Given the description of an element on the screen output the (x, y) to click on. 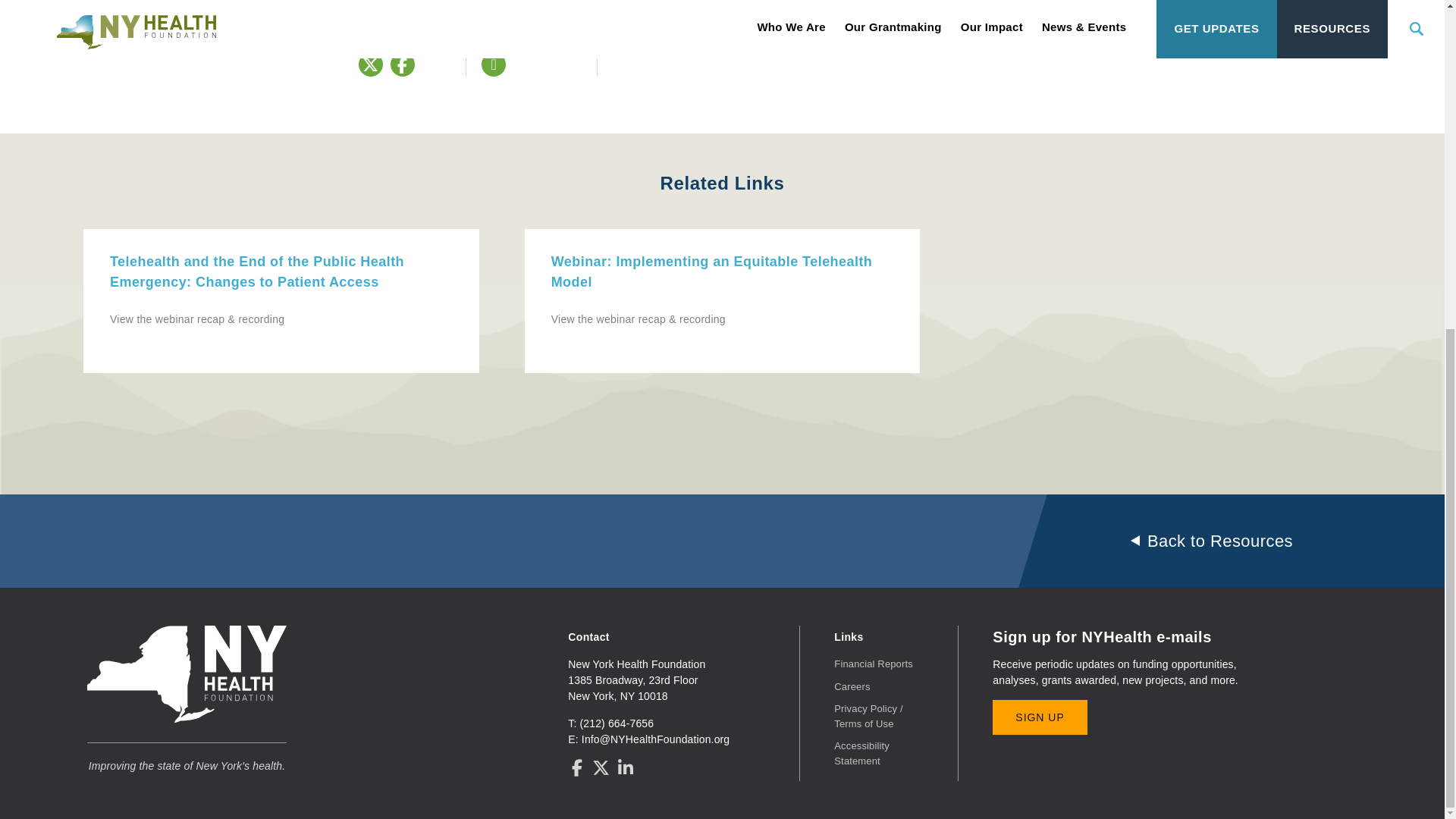
Financial Reports (873, 663)
Twitter (370, 64)
Careers (851, 686)
FB (402, 65)
Read the fact sheet (695, 50)
Tweet about this on Twitter (369, 64)
Share to Facebook (401, 64)
